Given the description of an element on the screen output the (x, y) to click on. 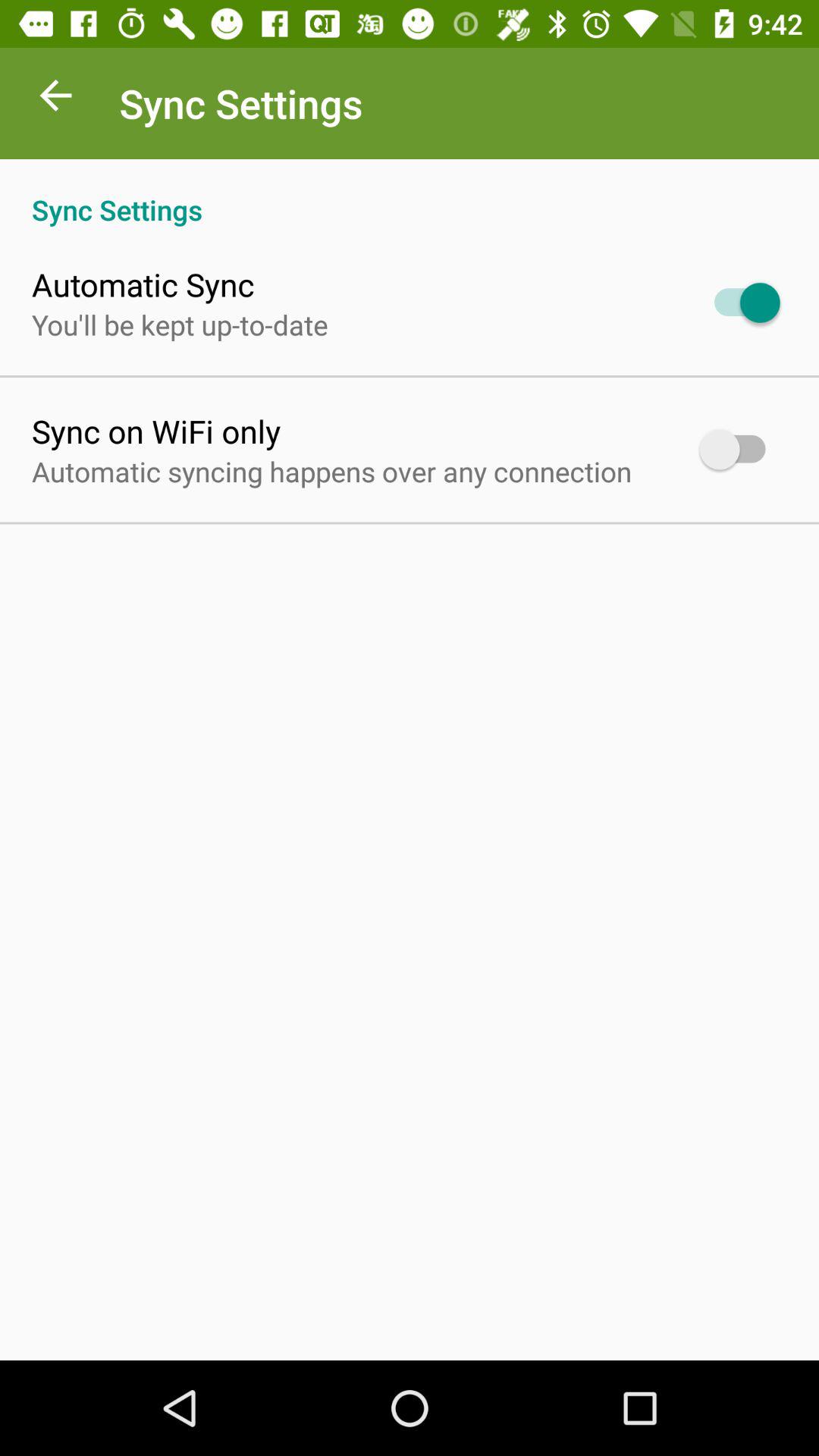
select app below you ll be app (155, 430)
